Given the description of an element on the screen output the (x, y) to click on. 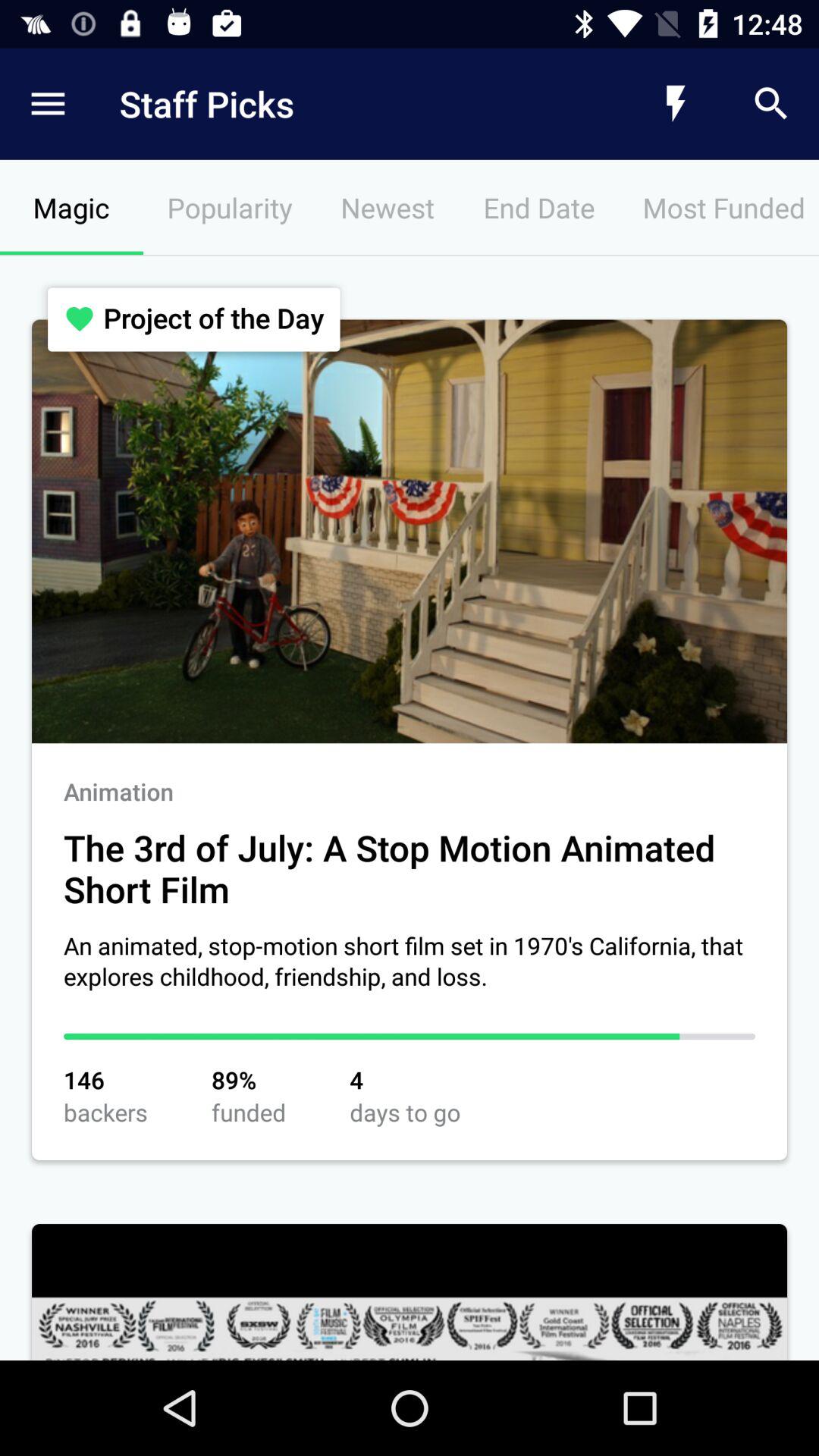
click the search icon (771, 104)
